Given the description of an element on the screen output the (x, y) to click on. 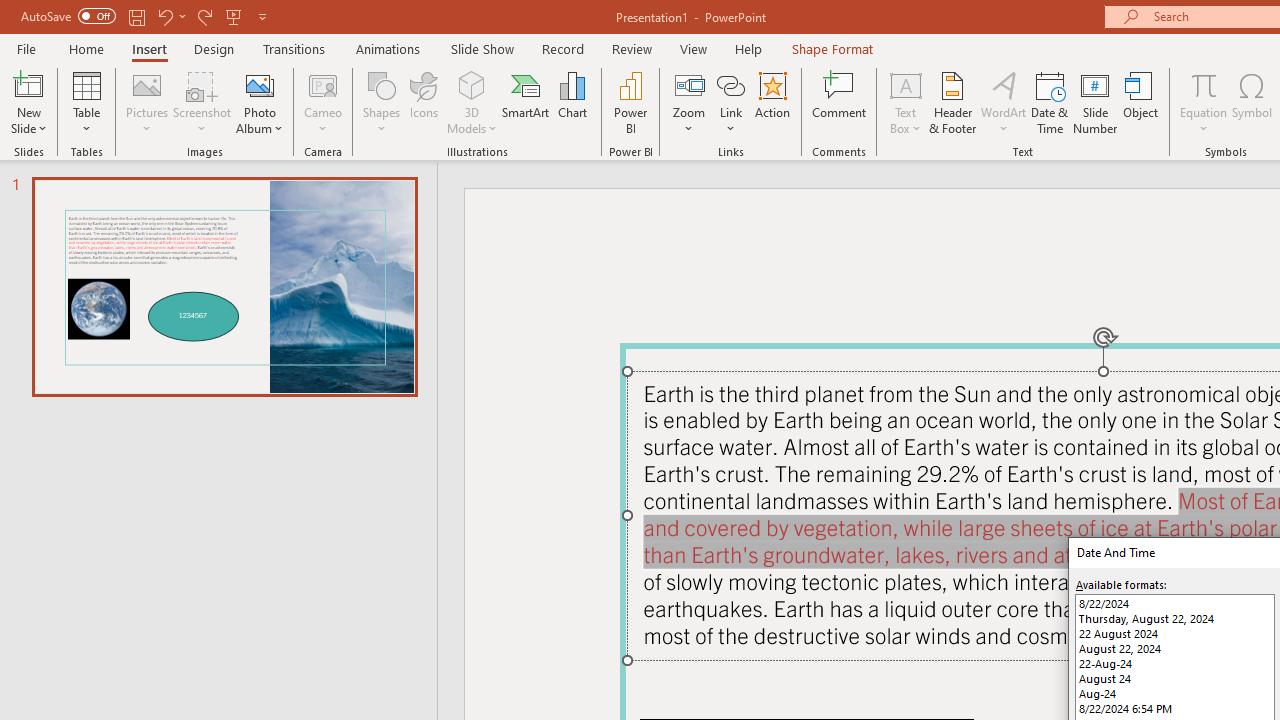
Power BI (630, 102)
Help (748, 48)
Cameo (323, 84)
3D Models (472, 84)
8/22/2024 6:54 PM (1174, 708)
8/22/2024 (1174, 603)
Redo (204, 15)
Object... (1141, 102)
Link (731, 102)
Cameo (323, 102)
Insert (149, 48)
Photo Album... (259, 102)
AutoSave (68, 16)
More Options (1203, 121)
